Given the description of an element on the screen output the (x, y) to click on. 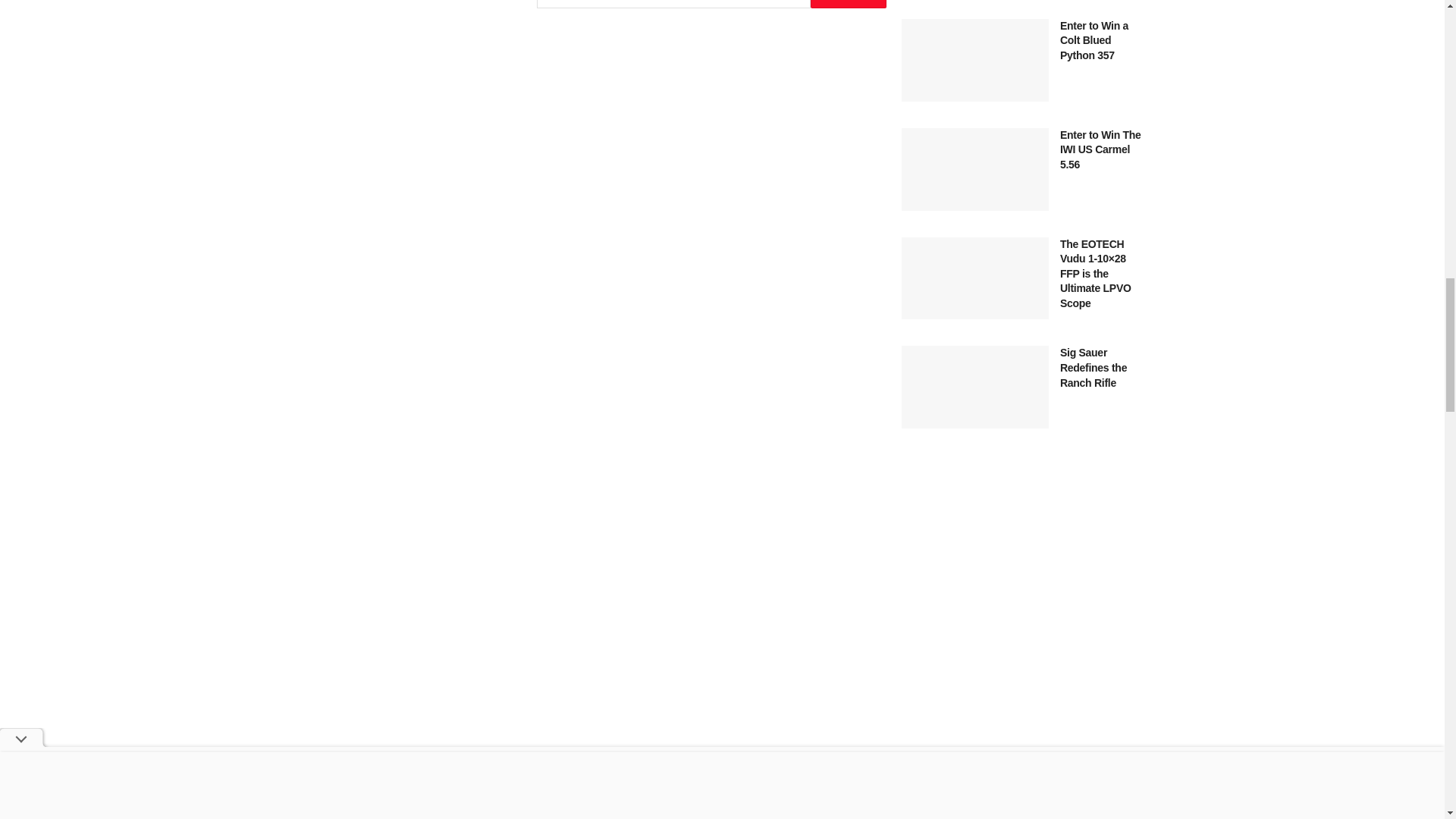
3rd party ad content (1024, 762)
3rd party ad content (1024, 579)
Surveillance video released in Lenexa Costco shooting (587, 4)
